Given the description of an element on the screen output the (x, y) to click on. 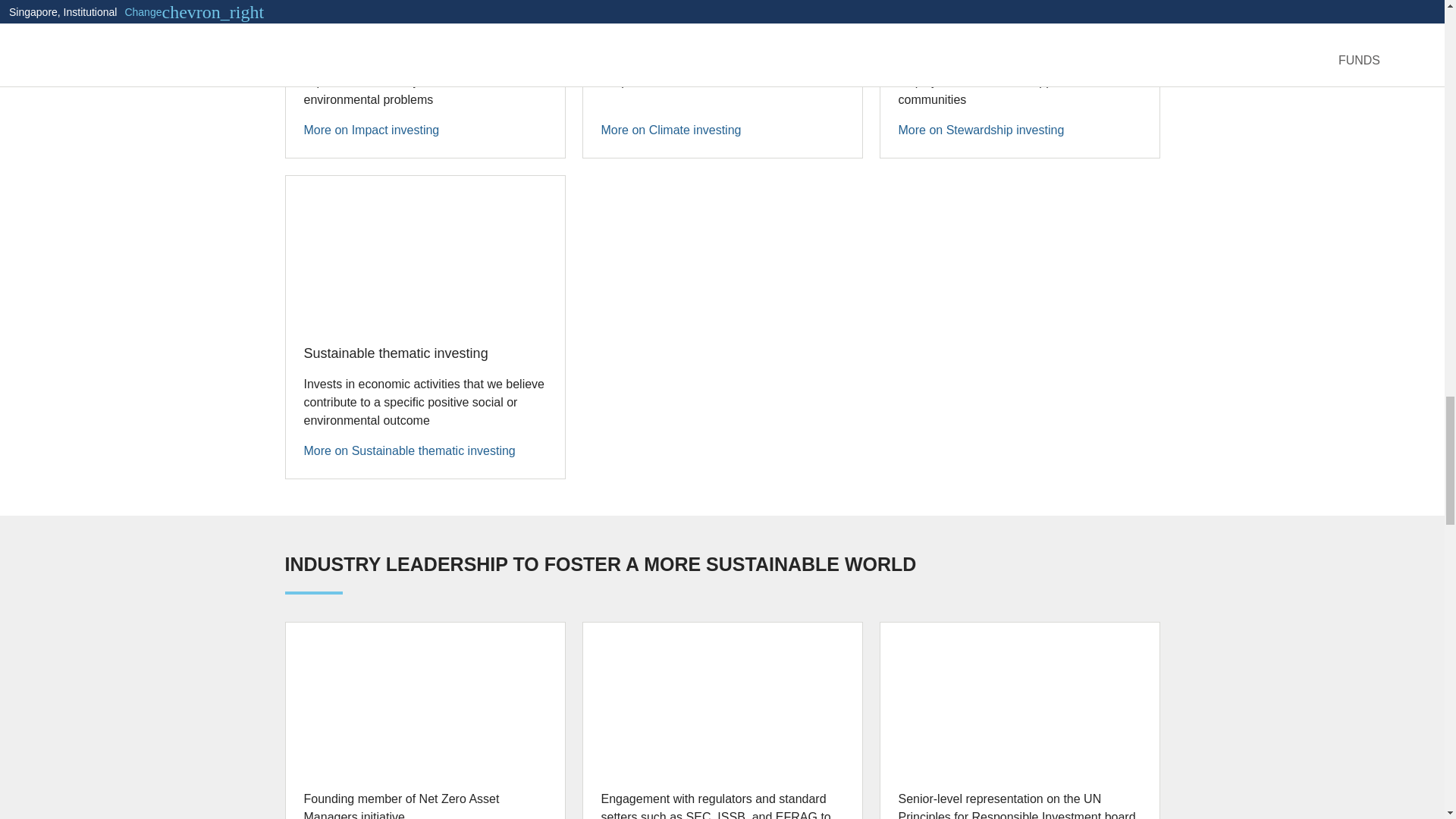
More on Impact investing (370, 130)
More on Sustainable thematic investing (408, 451)
More on Climate investing (670, 130)
More on Stewardship investing (981, 130)
